Given the description of an element on the screen output the (x, y) to click on. 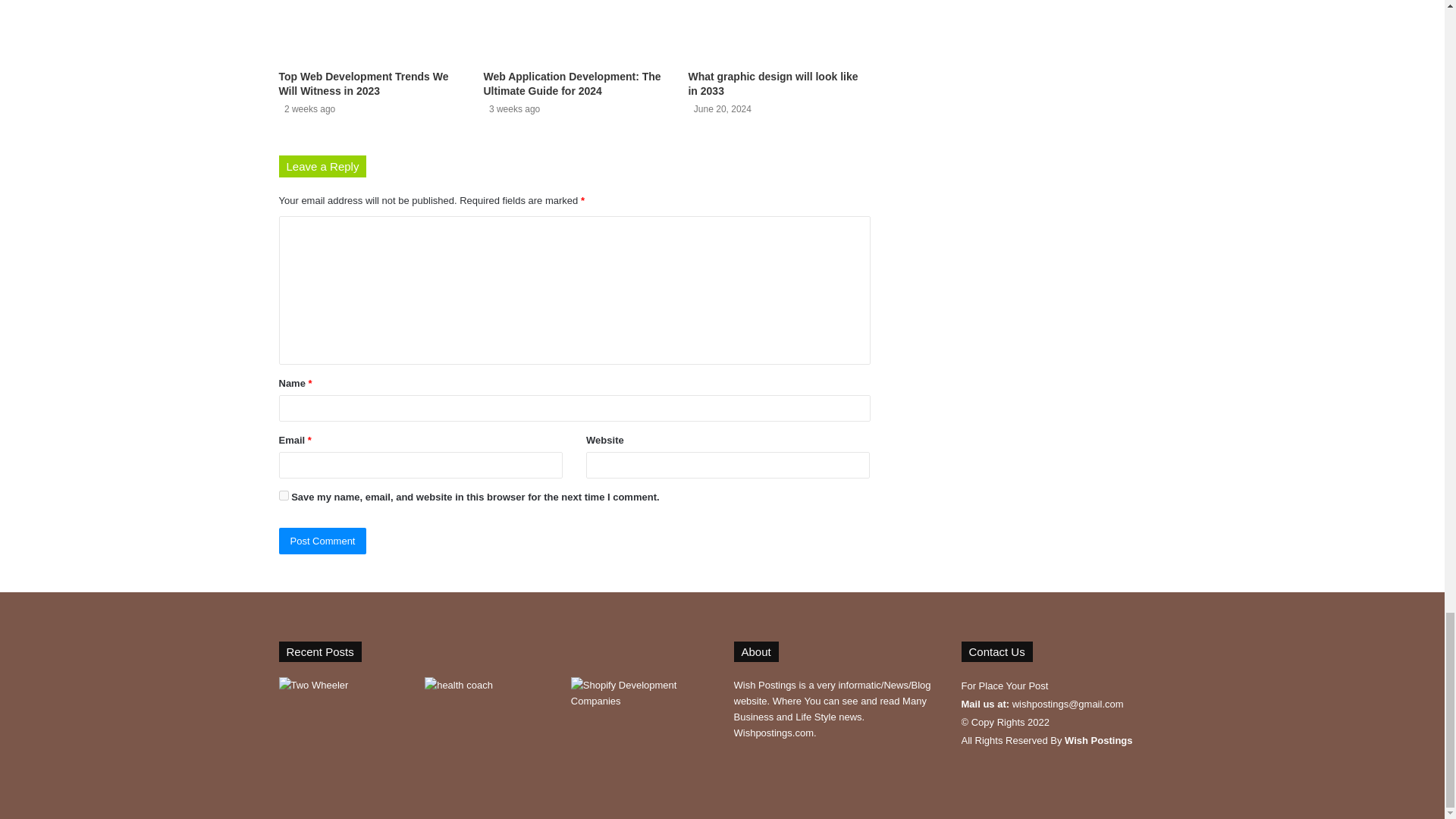
yes (283, 495)
Post Comment (322, 540)
